Given the description of an element on the screen output the (x, y) to click on. 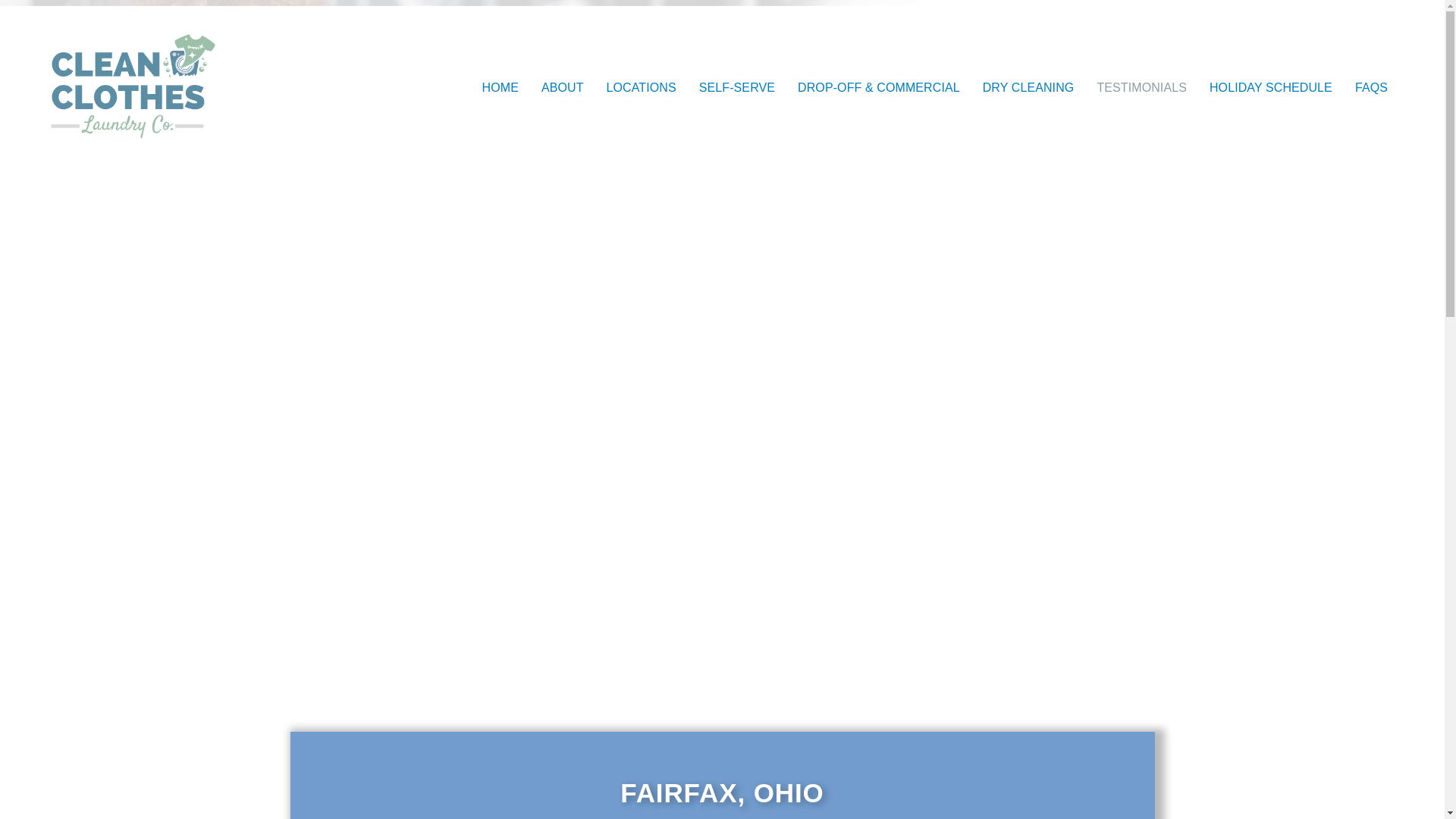
HOME (499, 87)
LOCATIONS (641, 87)
HOLIDAY SCHEDULE (1270, 87)
DRY CLEANING (1028, 87)
TESTIMONIALS (1141, 87)
SELF-SERVE (736, 87)
ABOUT (562, 87)
FAQS (1371, 87)
